Given the description of an element on the screen output the (x, y) to click on. 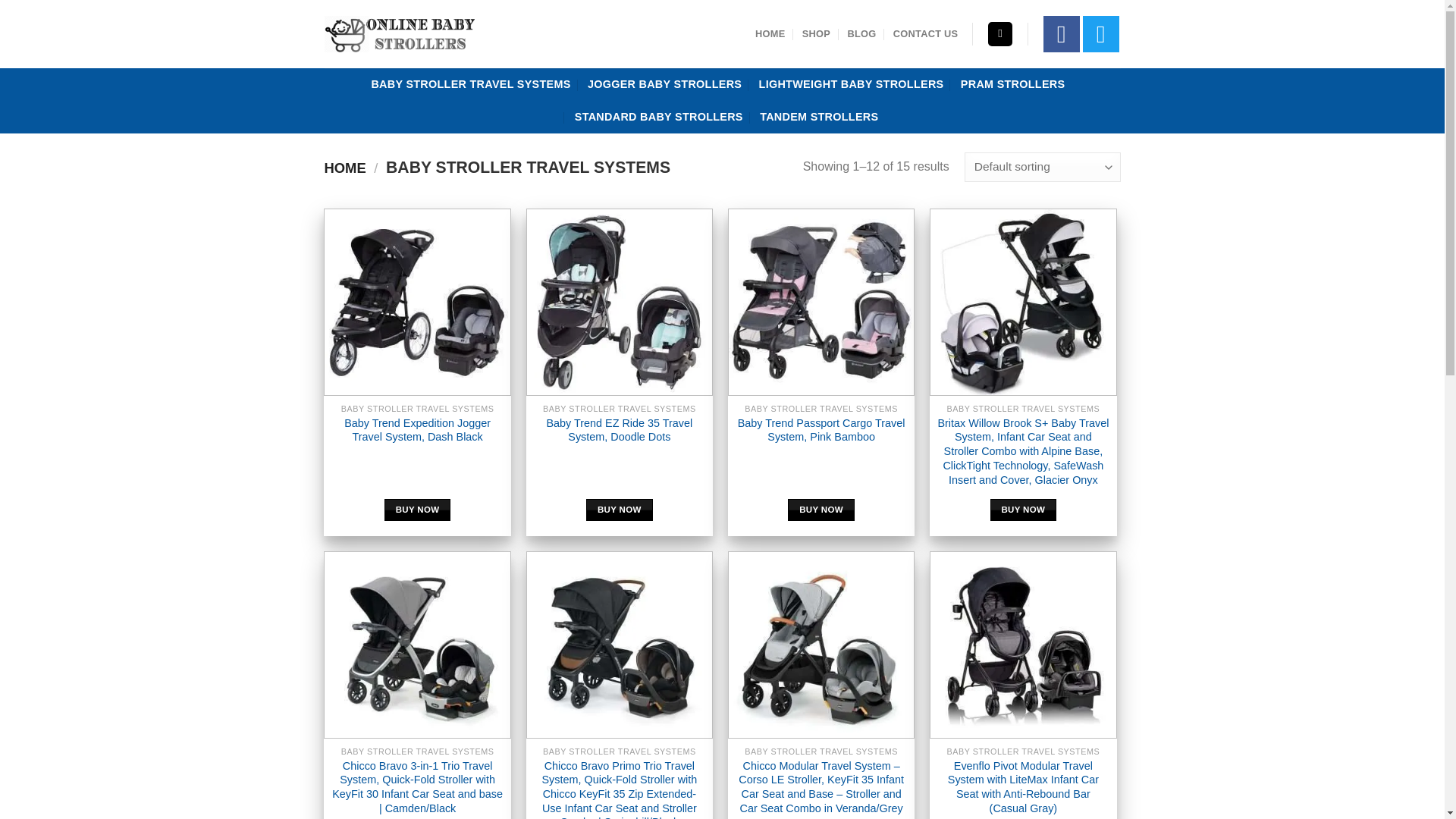
BUY NOW (1023, 509)
BLOG (861, 33)
HOME (769, 33)
BUY NOW (820, 509)
JOGGER BABY STROLLERS (664, 83)
STANDARD BABY STROLLERS (658, 116)
SHOP (815, 33)
Baby Trend EZ Ride 35 Travel System, Doodle Dots (620, 430)
BABY STROLLER TRAVEL SYSTEMS (470, 83)
LIGHTWEIGHT BABY STROLLERS (850, 83)
